Given the description of an element on the screen output the (x, y) to click on. 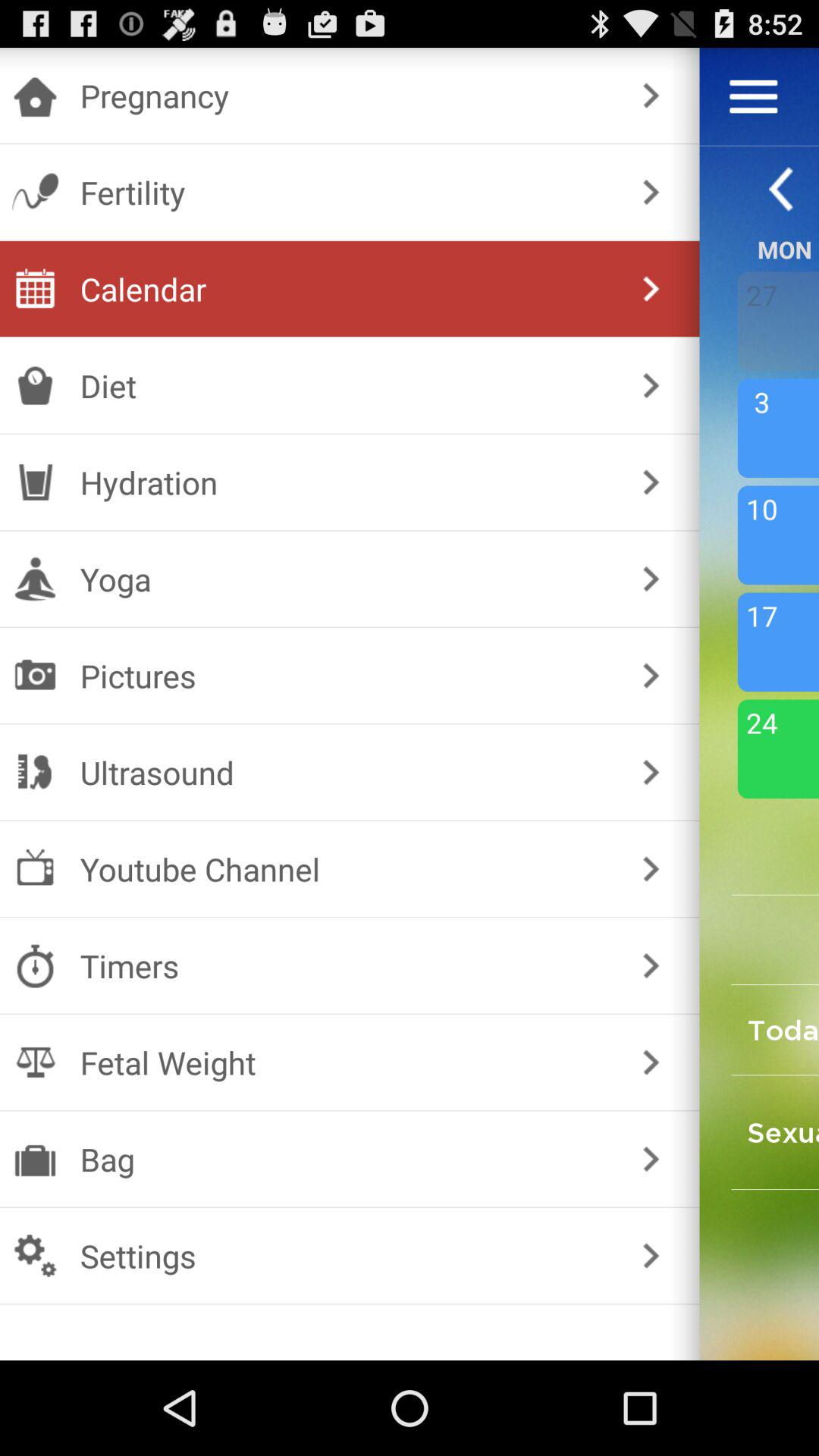
swipe to the diet (346, 385)
